Given the description of an element on the screen output the (x, y) to click on. 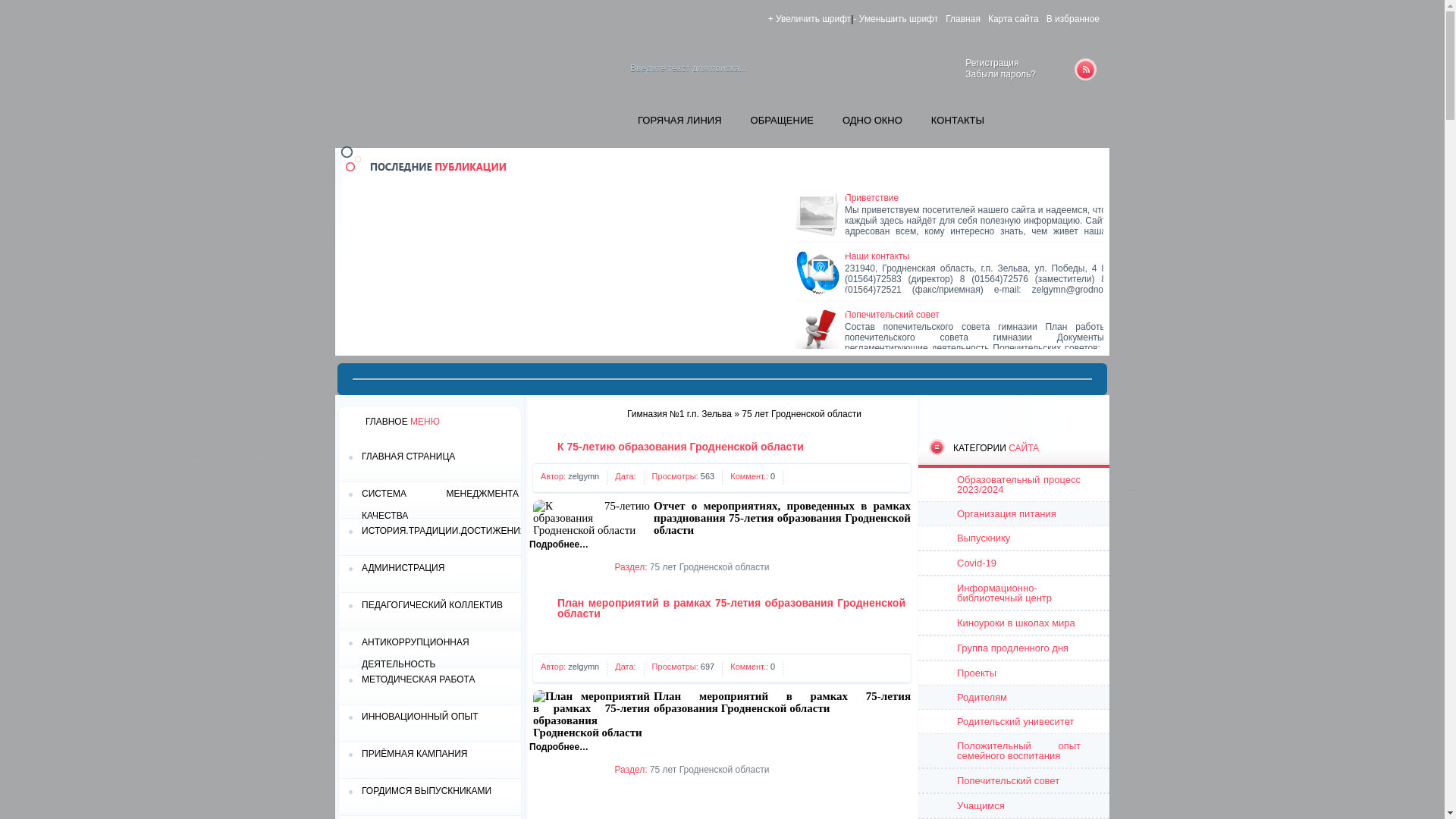
4 Element type: text (578, 769)
prev Element type: text (1062, 171)
zelgymn Element type: text (583, 666)
Covid-19 Element type: text (1013, 562)
zelgymn Element type: text (583, 475)
5 Element type: text (590, 769)
rss Element type: text (1085, 69)
0 Element type: text (772, 666)
next Element type: text (1084, 171)
1 Element type: text (545, 769)
5 Element type: text (590, 566)
2 Element type: text (555, 769)
3 Element type: text (568, 566)
4 Element type: text (578, 566)
2 Element type: text (555, 566)
0 Element type: text (772, 475)
3 Element type: text (568, 769)
1 Element type: text (545, 566)
